Given the description of an element on the screen output the (x, y) to click on. 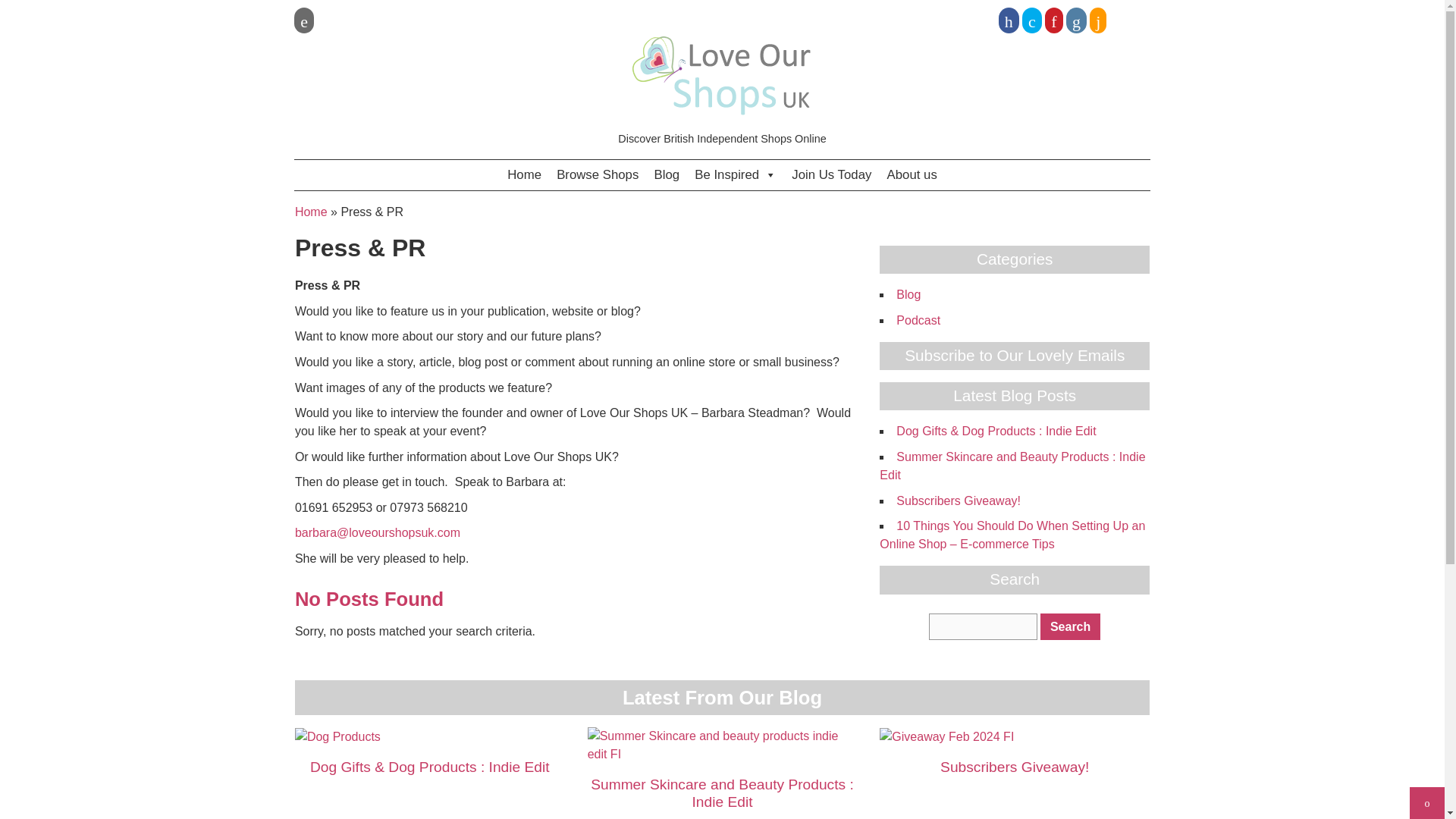
Subscribers Giveaway! (1014, 766)
Summer Skincare and Beauty Products : Indie Edit (1011, 465)
Summer Skincare and Beauty Products : Indie Edit (722, 744)
Subscribers Giveaway! (946, 735)
Podcast (918, 319)
Blog (666, 174)
Love Our Shops UK (722, 76)
Join Us Today (831, 174)
Browse Shops (597, 174)
Subscribers Giveaway! (958, 500)
